Given the description of an element on the screen output the (x, y) to click on. 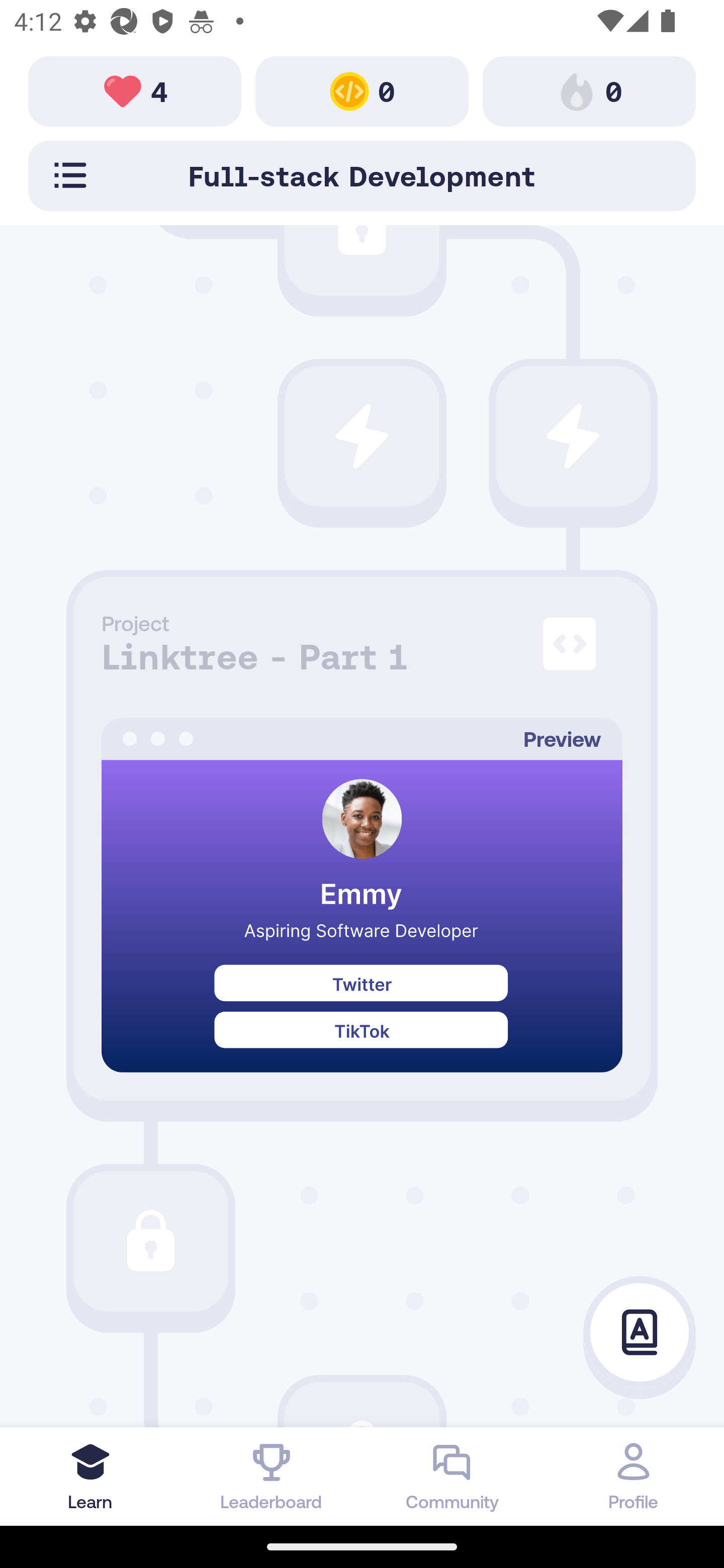
Path Toolbar Image 4 (134, 90)
Path Toolbar Image 0 (361, 90)
Path Toolbar Image 0 (588, 90)
Path Toolbar Selector Full-stack Development (361, 175)
Path Icon (361, 435)
Path Icon (572, 435)
Path Icon (150, 1241)
Glossary Icon (639, 1332)
Leaderboard (271, 1475)
Community (452, 1475)
Profile (633, 1475)
